Given the description of an element on the screen output the (x, y) to click on. 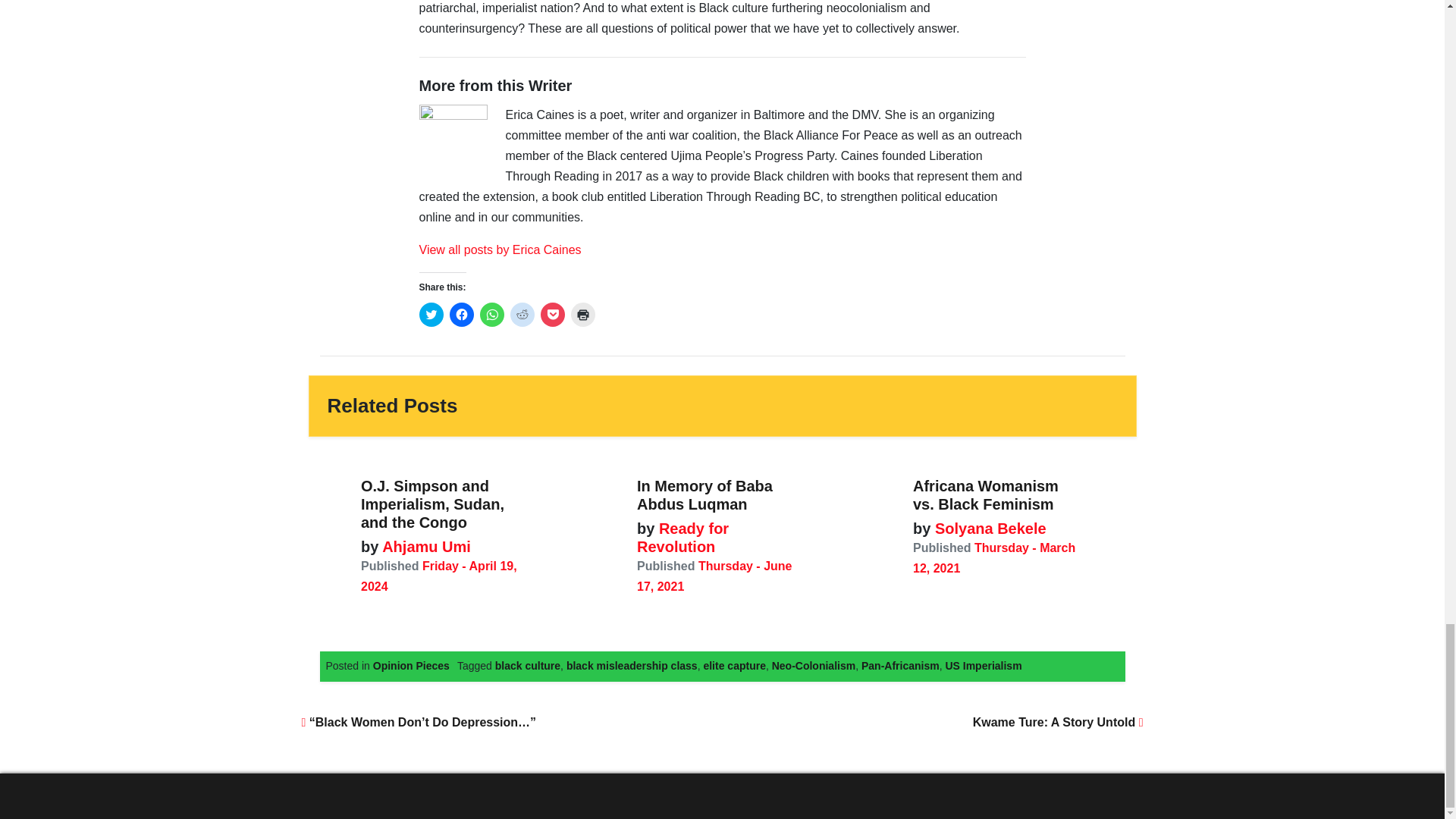
O.J. Simpson and Imperialism, Sudan, and the Congo (432, 503)
elite capture (734, 665)
In Memory of Baba Abdus Luqman (705, 494)
Ahjamu Umi (424, 546)
Africana Womanism vs. Black Feminism (985, 494)
Solyana Bekele (987, 528)
Ready for Revolution (683, 537)
Opinion Pieces (410, 665)
black culture (527, 665)
View all posts by Erica Caines (499, 249)
Thursday - March 12, 2021 (993, 557)
Friday - April 19, 2024 (438, 575)
black misleadership class (631, 665)
Thursday - June 17, 2021 (714, 575)
